Given the description of an element on the screen output the (x, y) to click on. 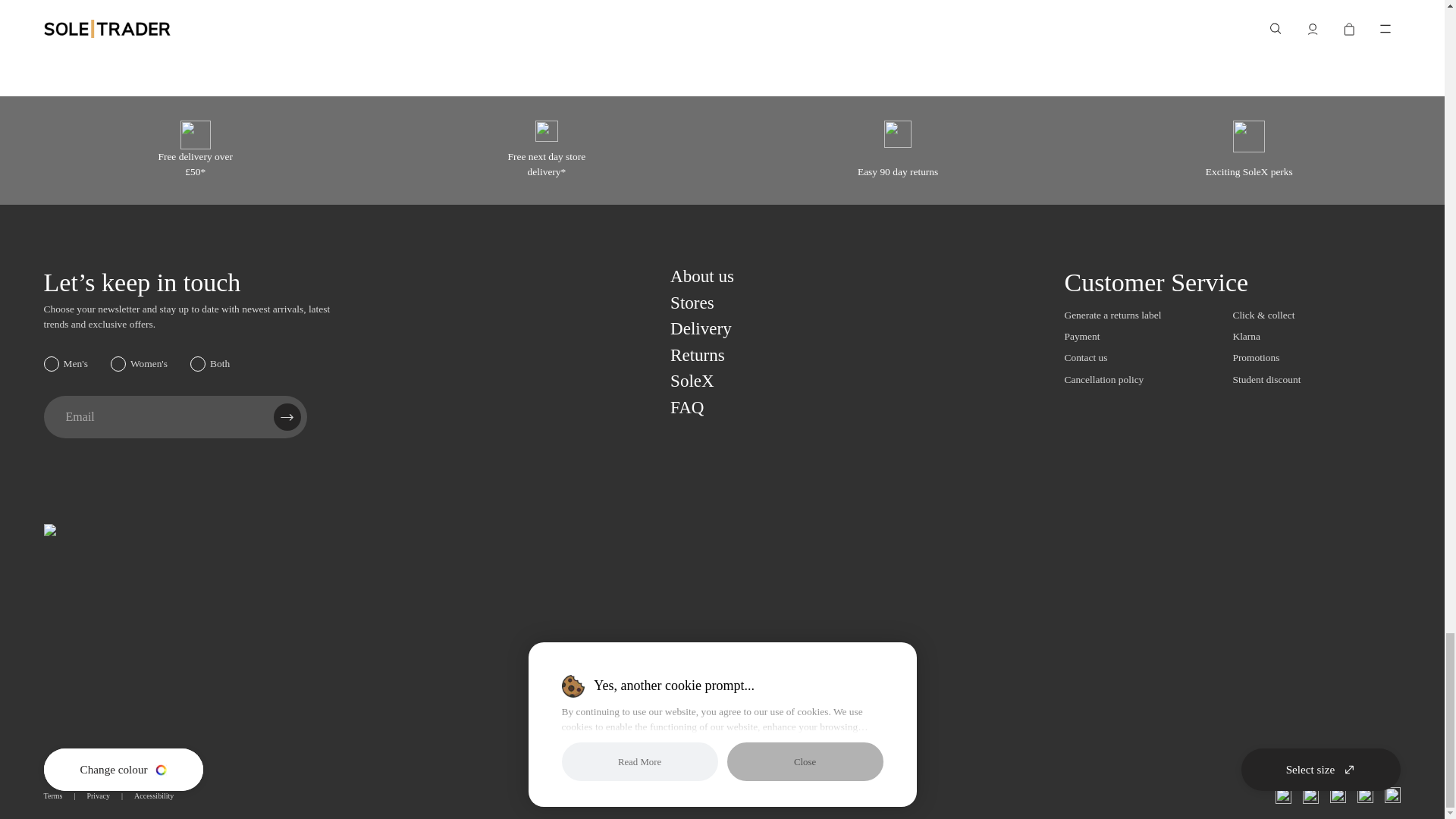
SoleX (691, 380)
Returns (697, 354)
Write a review (1347, 3)
Subscribe (287, 416)
FAQ (686, 406)
Delivery (700, 328)
About us (701, 275)
Stores (691, 302)
